Given the description of an element on the screen output the (x, y) to click on. 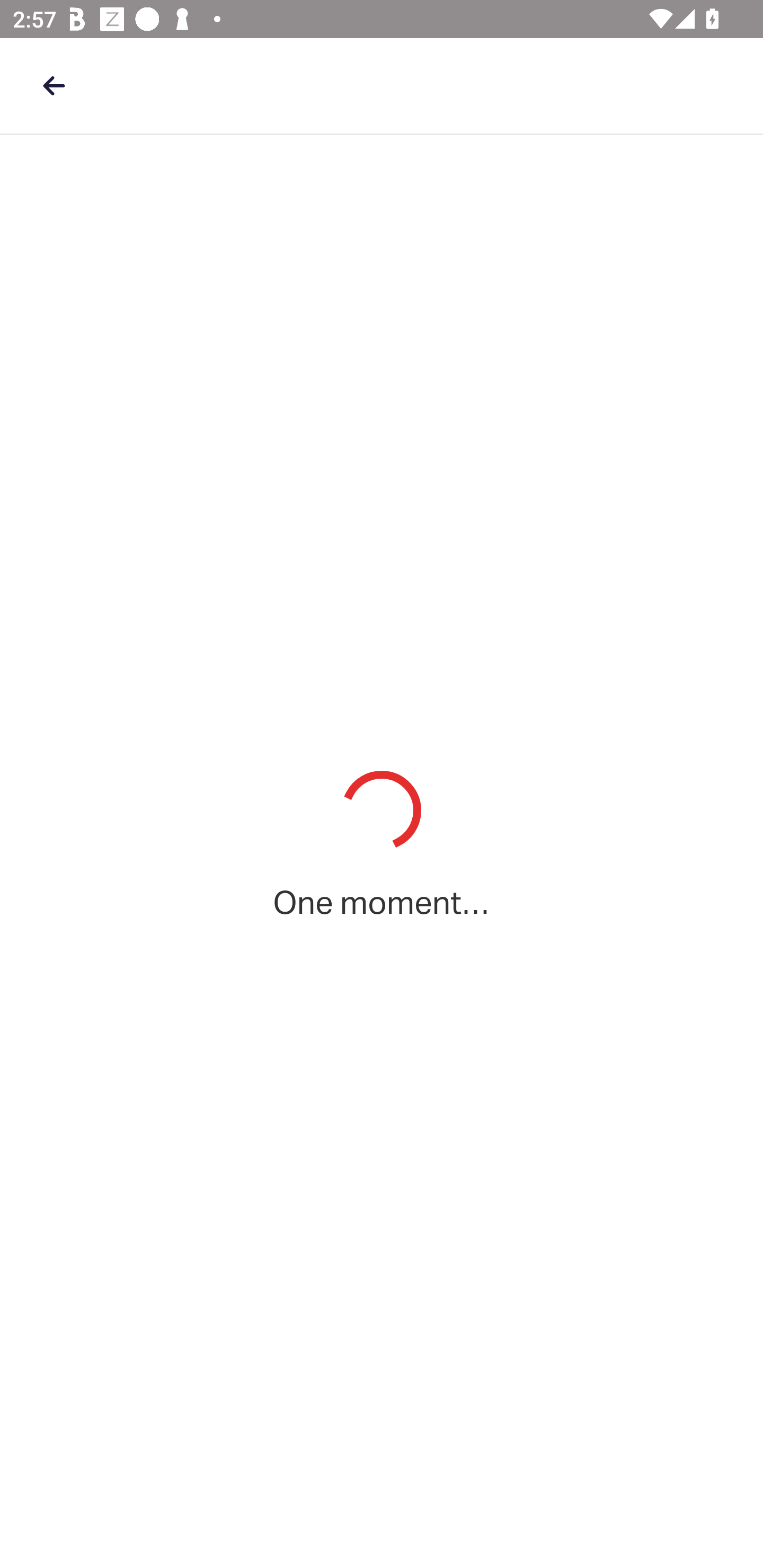
back button (53, 85)
